Given the description of an element on the screen output the (x, y) to click on. 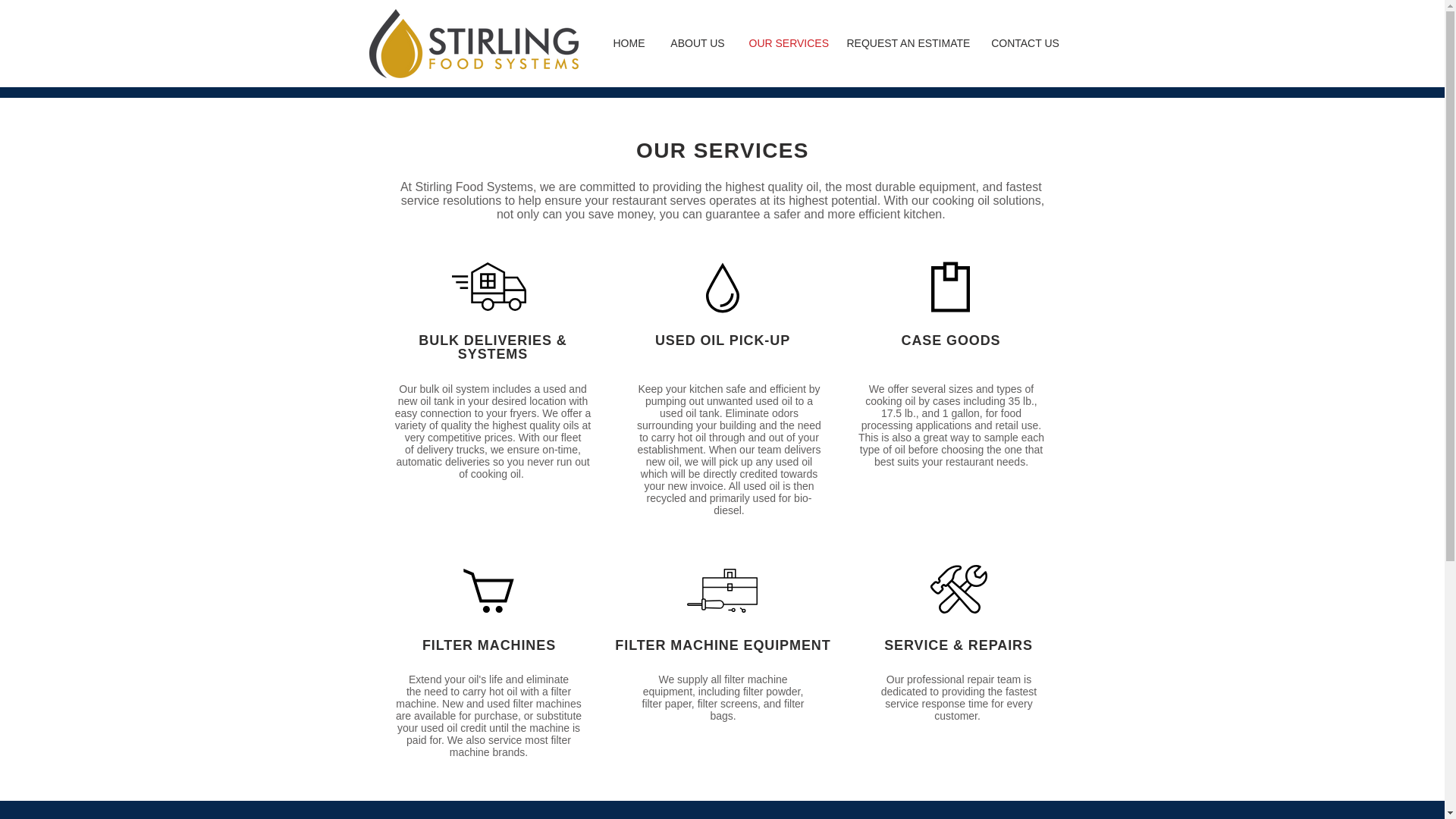
ABOUT US (698, 43)
REQUEST AN ESTIMATE (906, 43)
OUR SERVICES (785, 43)
CONTACT US (1024, 43)
HOME (628, 43)
